Given the description of an element on the screen output the (x, y) to click on. 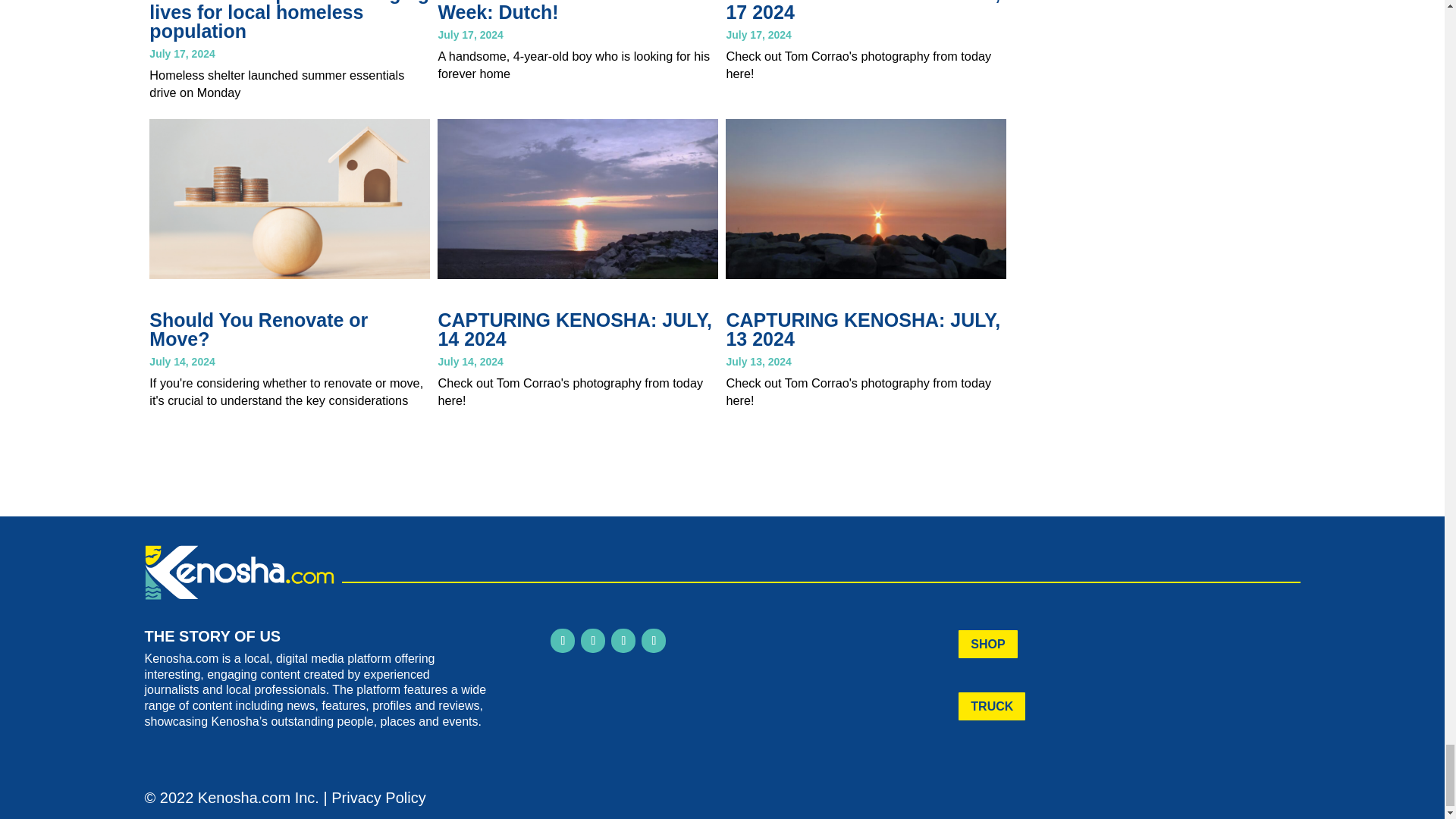
footer-logo (238, 572)
Follow on LinkedIn (622, 640)
Follow on Facebook (562, 640)
Follow on Instagram (592, 640)
